Given the description of an element on the screen output the (x, y) to click on. 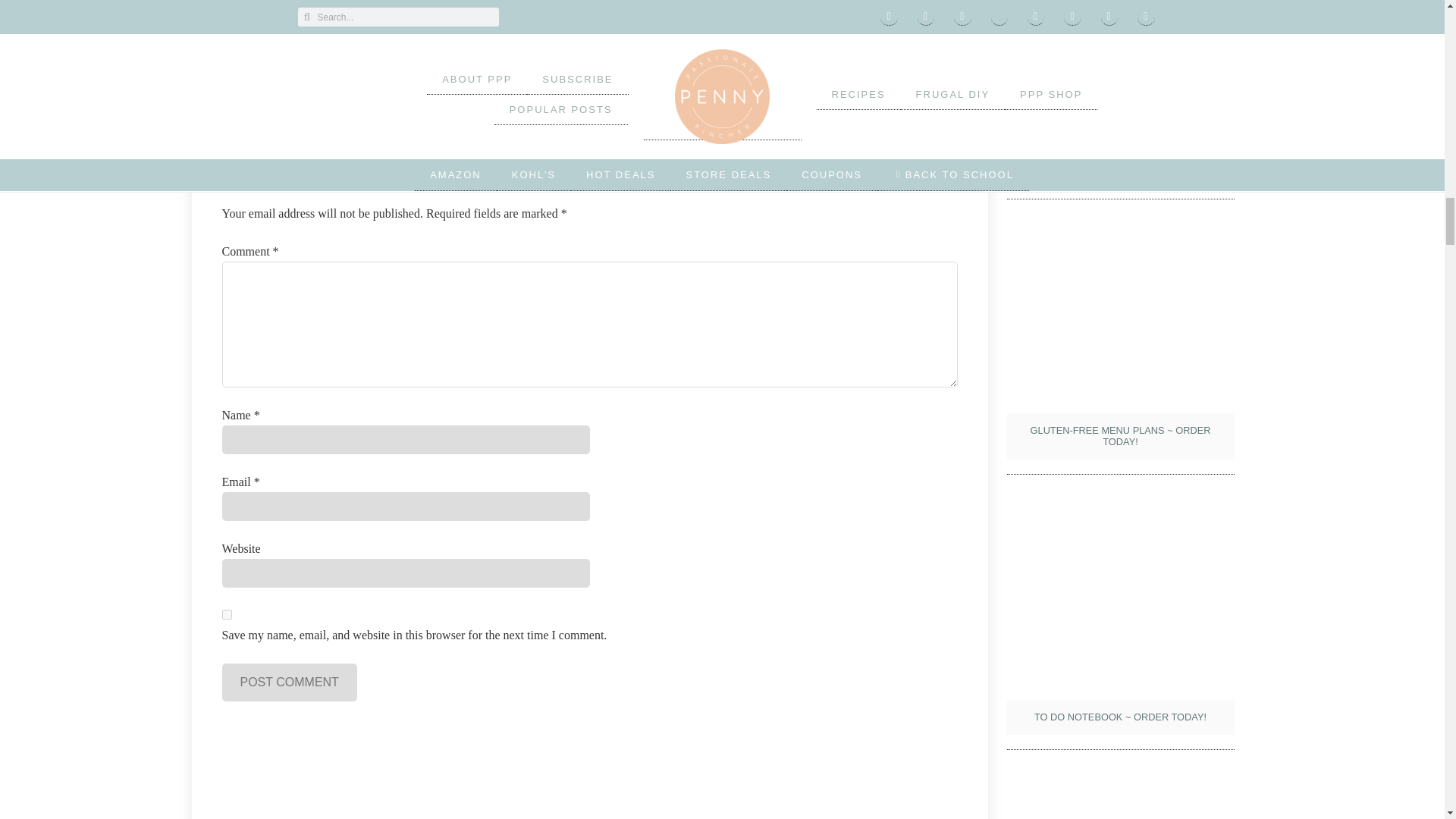
Post Comment (288, 682)
yes (226, 614)
